Given the description of an element on the screen output the (x, y) to click on. 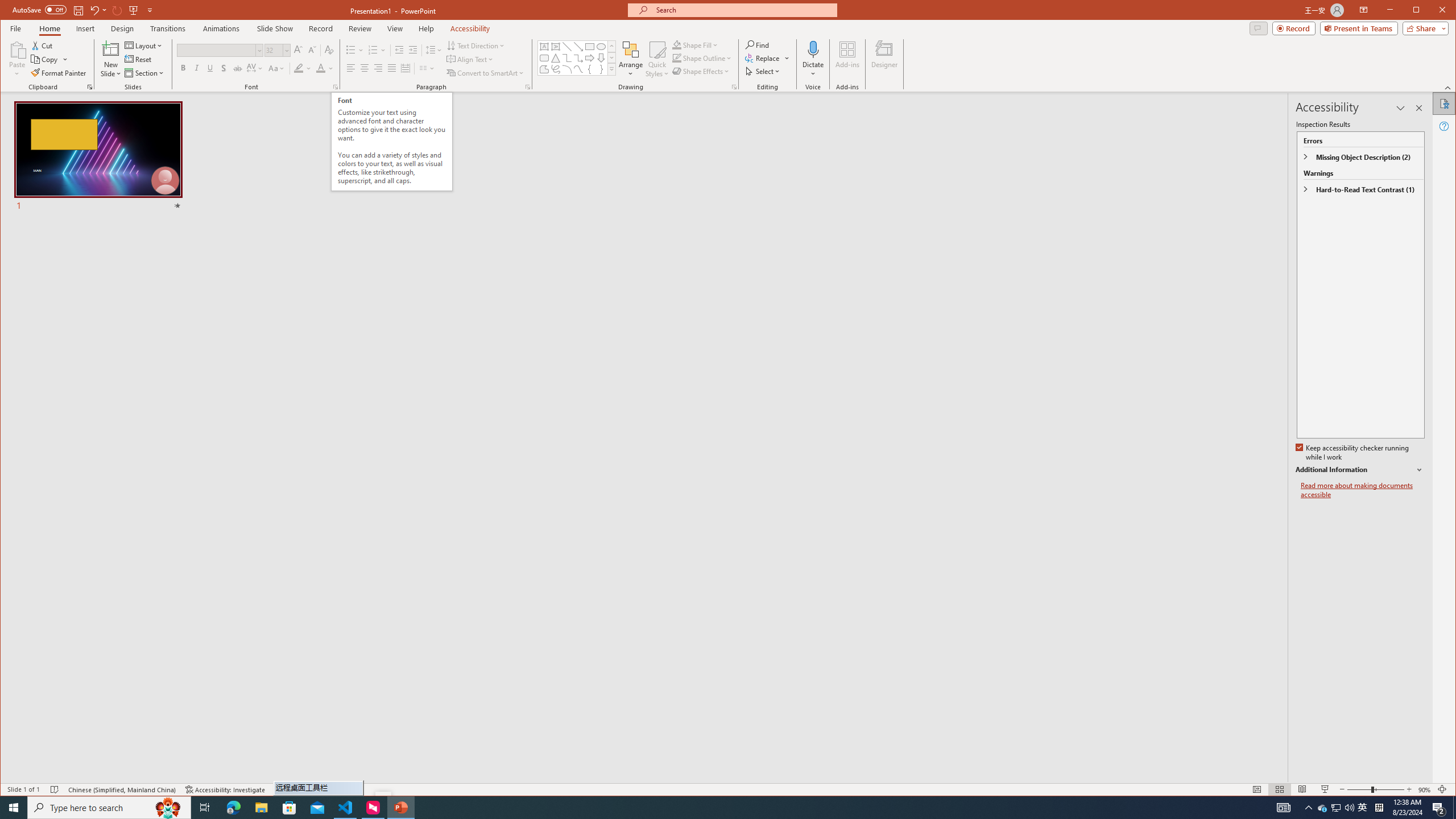
Shape Outline Blue, Accent 1 (676, 57)
